Given the description of an element on the screen output the (x, y) to click on. 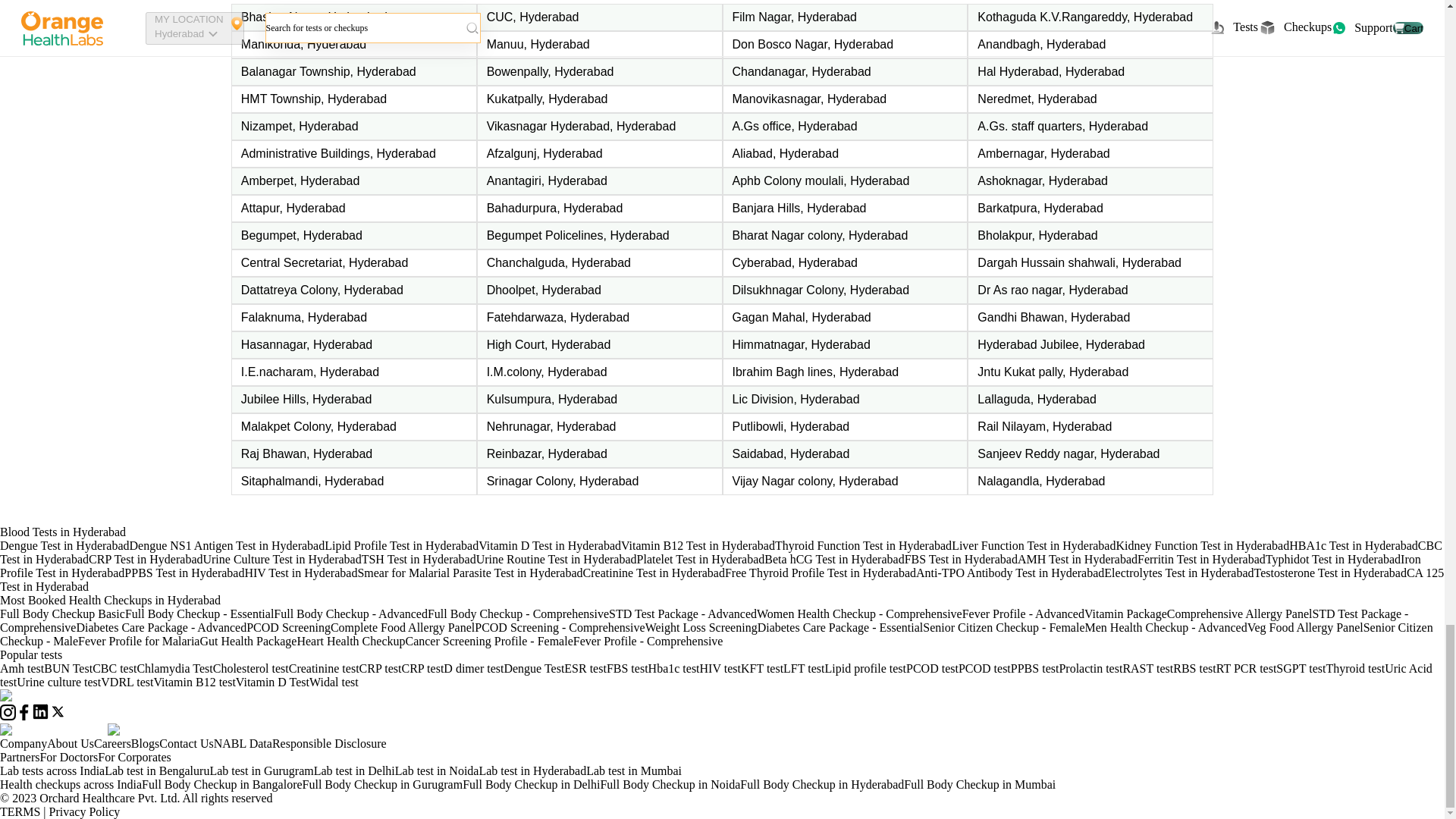
Vitamin D Test in Hyderabad (550, 545)
Lipid Profile Test in Hyderabad (401, 545)
Thyroid Function Test in Hyderabad (863, 545)
CBC Test in Hyderabad (721, 551)
Dengue NS1 Antigen Test in Hyderabad (226, 545)
Vitamin B12 Test in Hyderabad (697, 545)
Liver Function Test in Hyderabad (1033, 545)
HBA1c Test in Hyderabad (1353, 545)
CRP Test in Hyderabad (145, 558)
Kidney Function Test in Hyderabad (1201, 545)
Dengue Test in Hyderabad (64, 545)
